Given the description of an element on the screen output the (x, y) to click on. 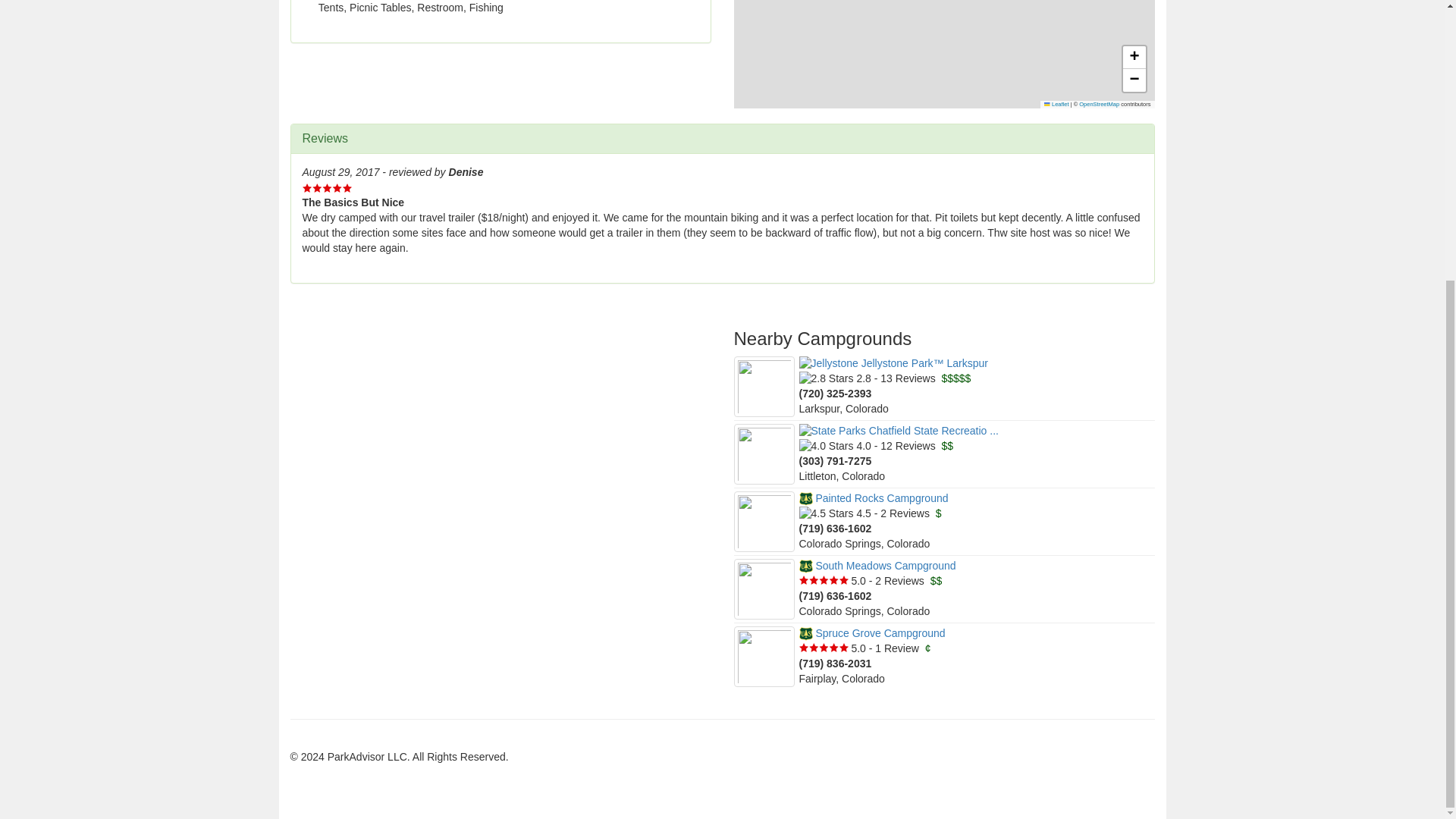
 Painted Rocks Campground (874, 498)
A JavaScript library for interactive maps (1055, 103)
Zoom in (1133, 56)
Zoom out (1133, 79)
 South Meadows Campground (877, 565)
 Spruce Grove Campground (871, 633)
 Chatfield State Recreatio ... (898, 430)
Leaflet (1055, 103)
OpenStreetMap (1098, 103)
